Given the description of an element on the screen output the (x, y) to click on. 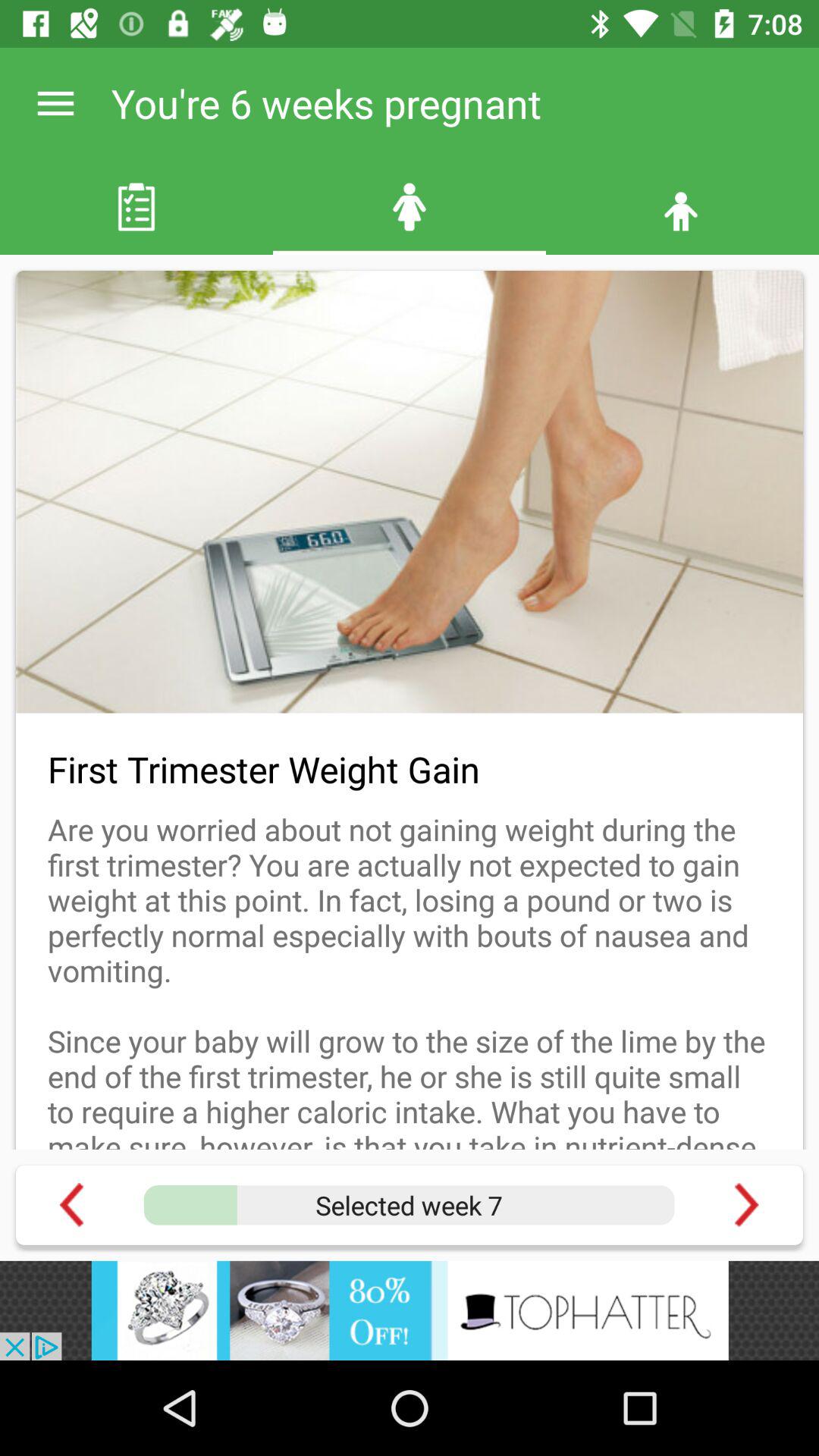
select next week (746, 1204)
